Given the description of an element on the screen output the (x, y) to click on. 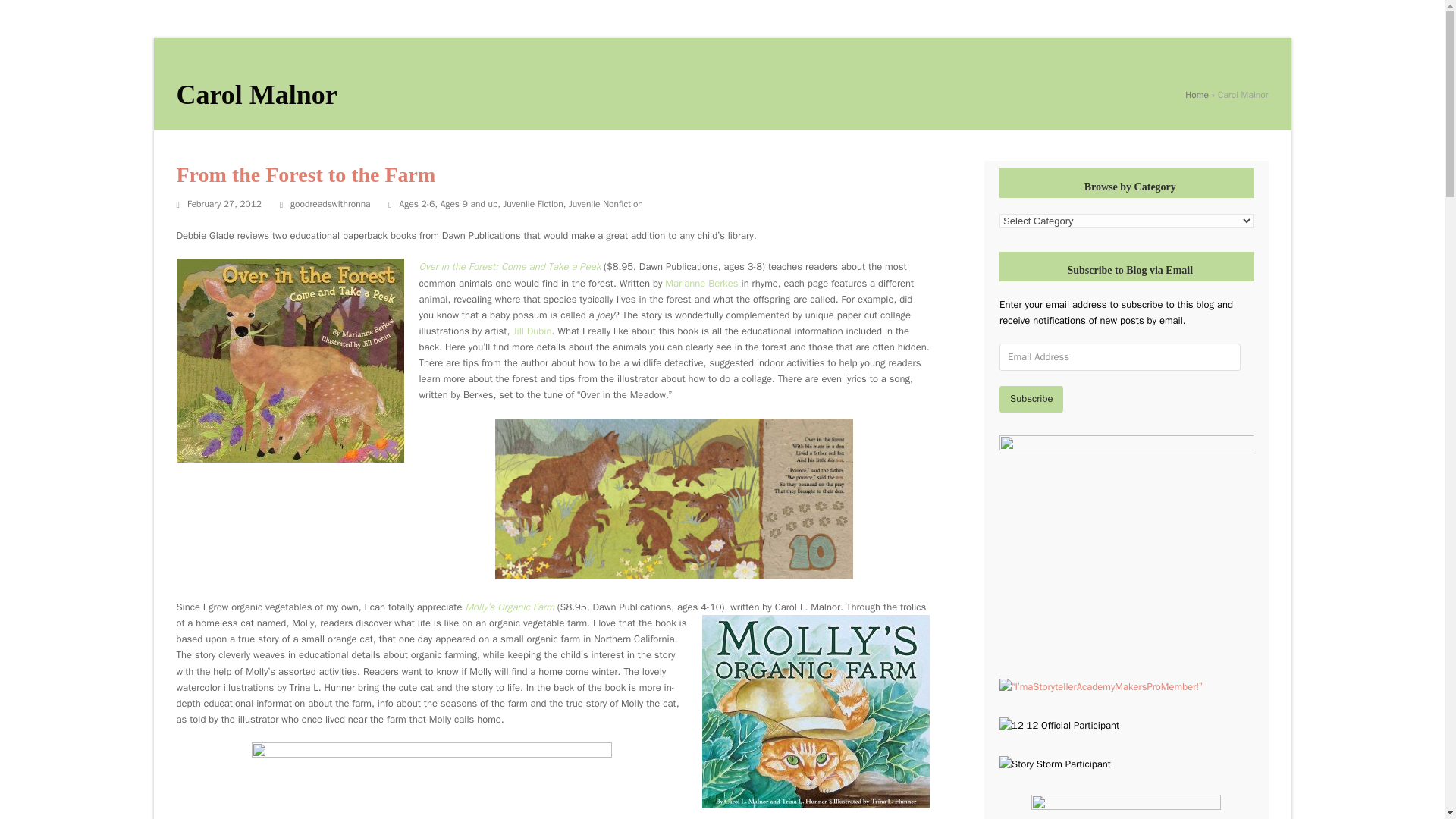
Posts by goodreadswithronna (330, 203)
Subscribe (1030, 397)
Juvenile Fiction (533, 203)
From the Forest to the Farm (305, 173)
Jill Dubin (531, 330)
Ages 9 and up (469, 203)
Ages 2-6 (416, 203)
Juvenile Nonfiction (606, 203)
Home (1196, 94)
Over in the Forest: Come and Take a Peek  (511, 266)
goodreadswithronna (330, 203)
Marianne Berkes (701, 282)
